Given the description of an element on the screen output the (x, y) to click on. 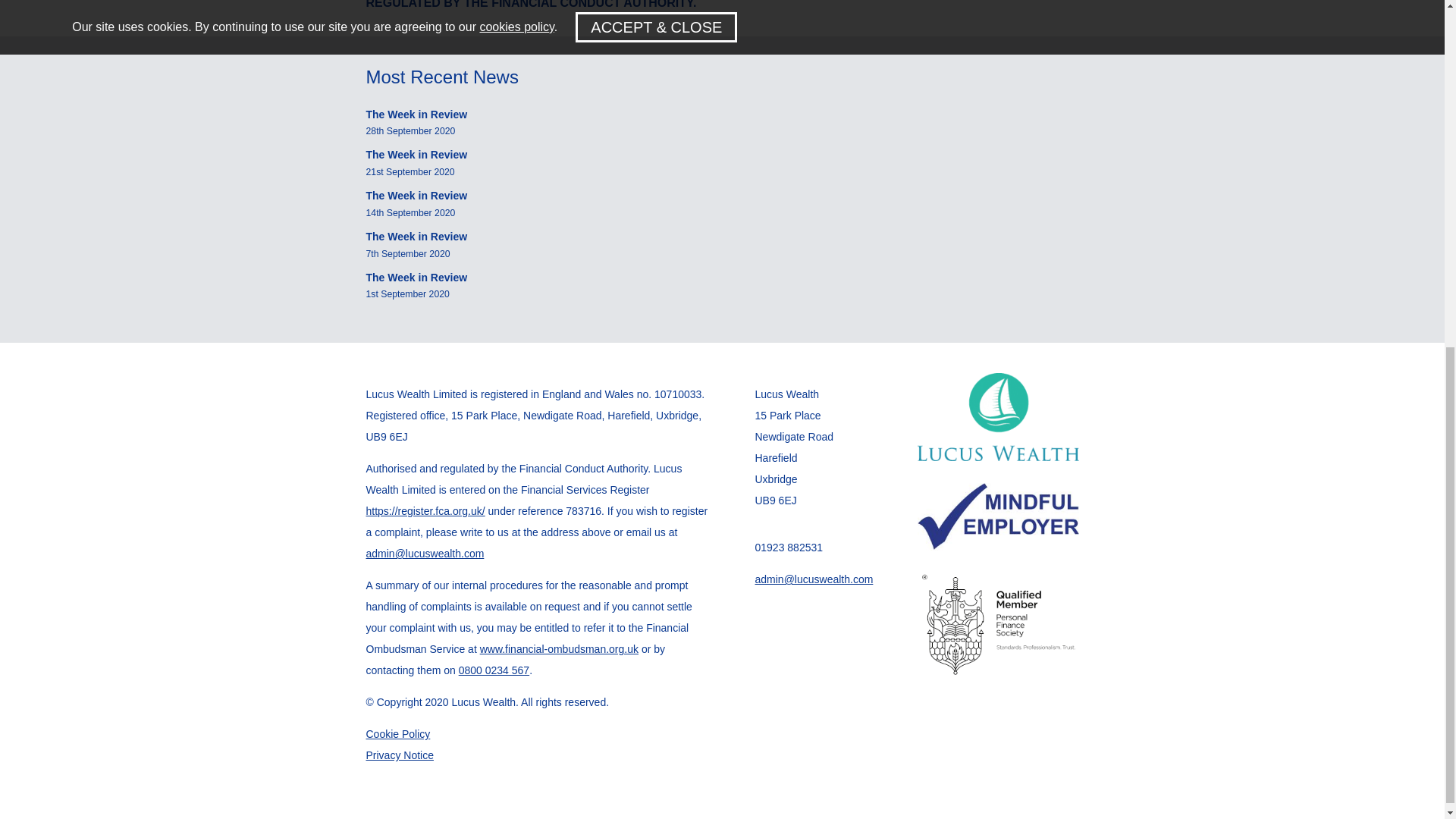
0800 0234 567 (493, 670)
www.financial-ombudsman.org.uk (559, 648)
Privacy Notice (398, 755)
Cookie Policy (397, 734)
The Week in Review (416, 195)
The Week in Review (416, 114)
The Week in Review (416, 236)
The Week in Review (416, 154)
The Week in Review (416, 277)
